Given the description of an element on the screen output the (x, y) to click on. 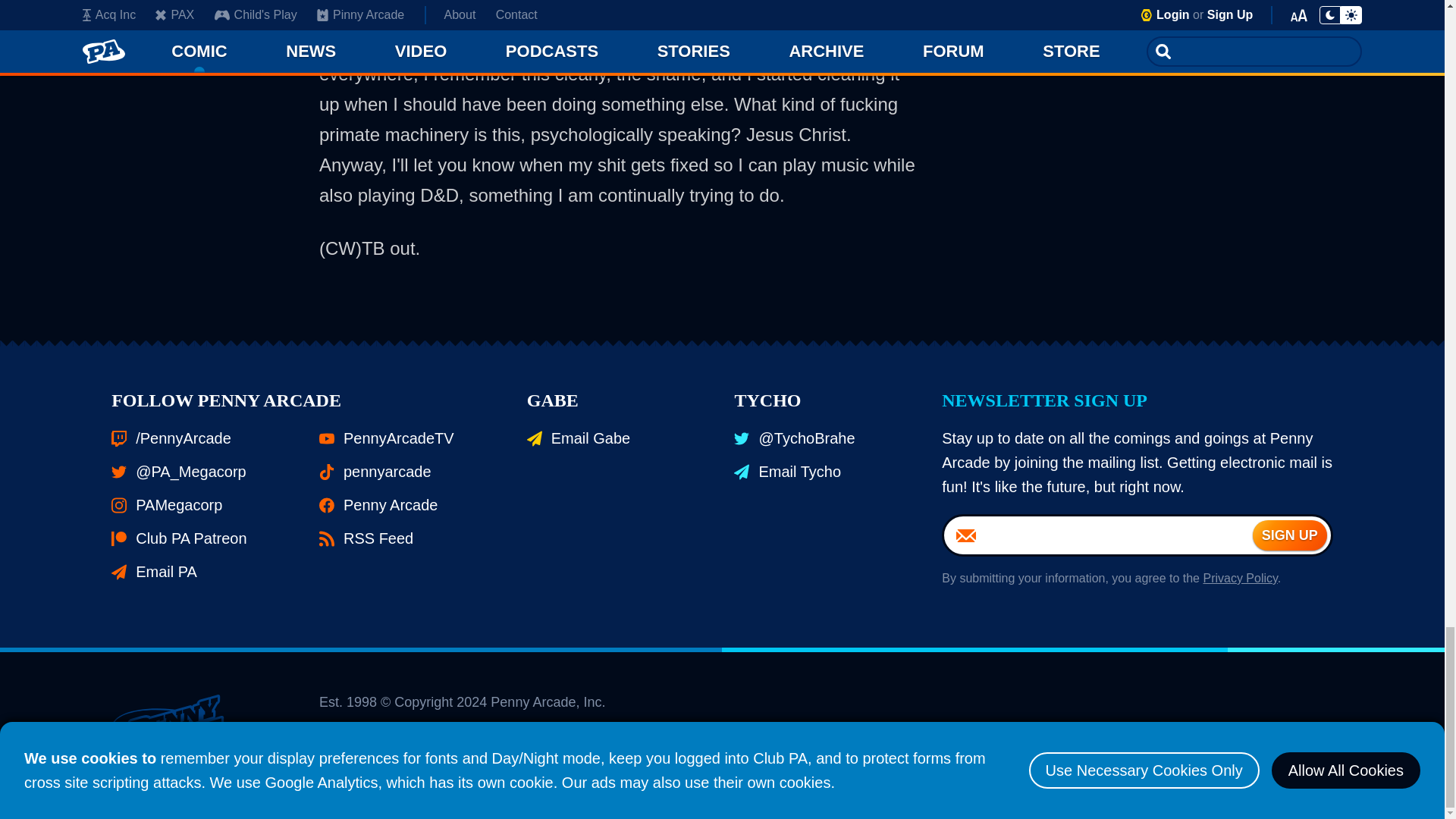
Sign Up (1289, 535)
